Given the description of an element on the screen output the (x, y) to click on. 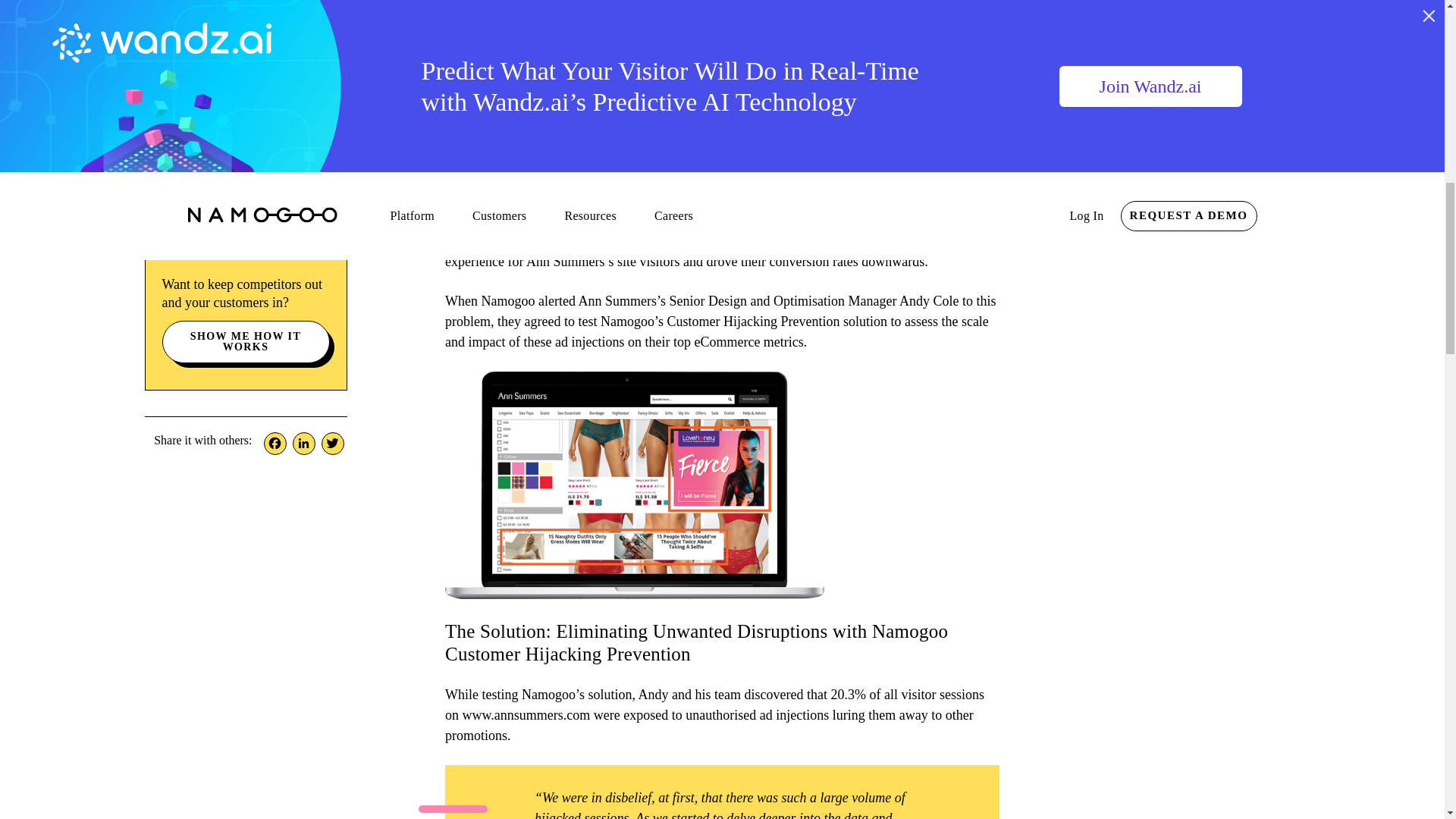
Facebook (274, 443)
Facebook (274, 443)
LinkedIn (303, 443)
SHOW ME HOW IT WORKS (245, 342)
Twitter (332, 443)
LinkedIn (303, 443)
Twitter (332, 443)
